Given the description of an element on the screen output the (x, y) to click on. 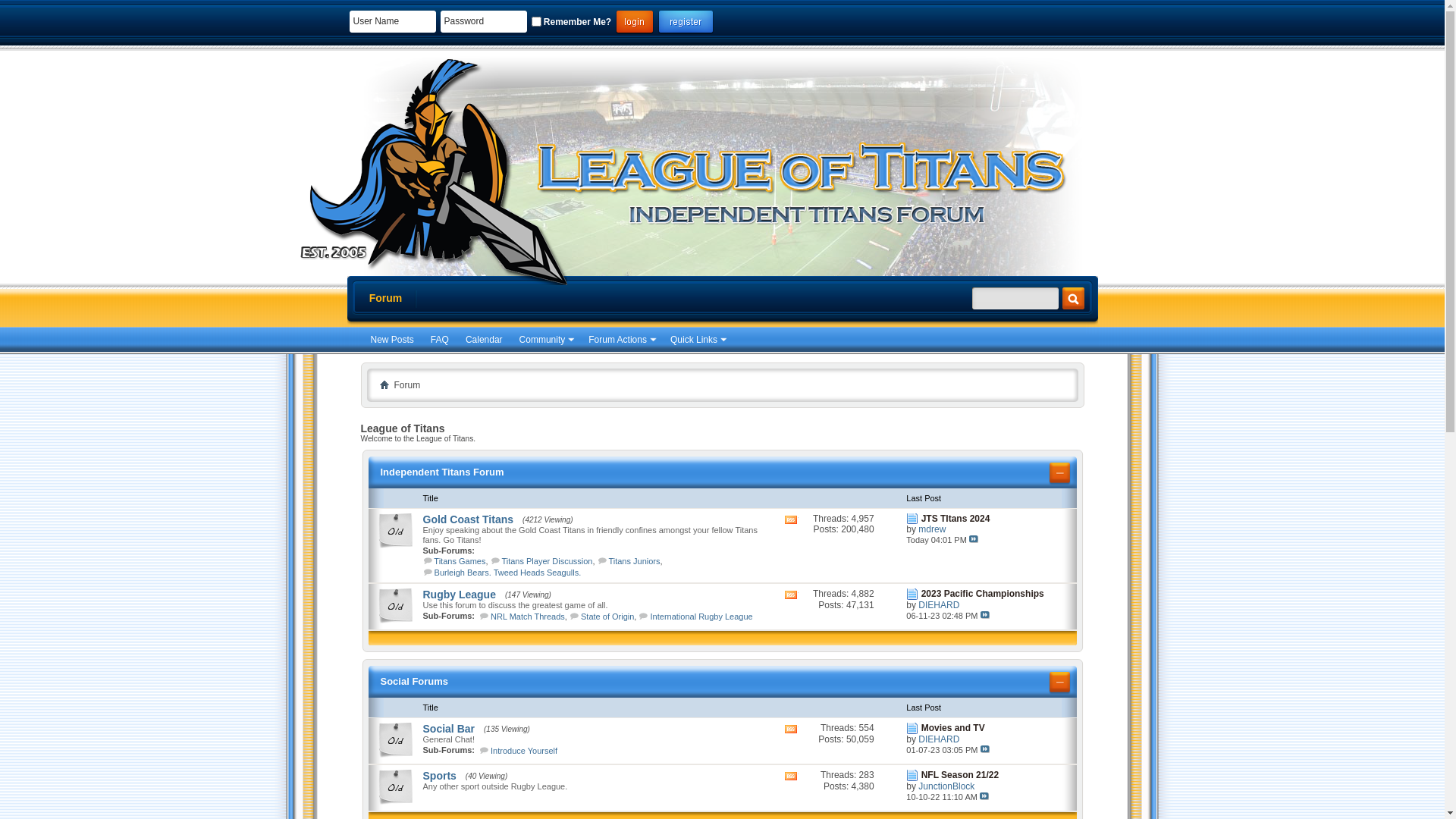
Introduce Yourself Element type: text (523, 750)
Go to last post Element type: hover (973, 538)
View this forum's RSS feed Element type: text (791, 543)
Go to last post Element type: hover (983, 796)
View this forum's RSS feed Element type: text (791, 752)
Go to last post Element type: hover (984, 749)
Movies and TV Element type: text (953, 727)
Rugby League Element type: text (459, 594)
NRL Match Threads Element type: text (527, 616)
Home Element type: hover (383, 384)
Register Element type: hover (685, 22)
Forum Actions Element type: text (620, 339)
DIEHARD Element type: text (938, 739)
League of Titans - Powered by vBulletin Element type: hover (426, 167)
Sports Element type: text (439, 775)
Titans Player Discussion Element type: text (546, 560)
Titans Games Element type: text (459, 560)
New Posts Element type: text (391, 339)
Forum Element type: text (385, 298)
2023 Pacific Championships Element type: text (982, 593)
Go to last post Element type: hover (984, 614)
FAQ Element type: text (439, 339)
State of Origin Element type: text (606, 616)
DIEHARD Element type: text (938, 604)
Independent Titans Forum Element type: text (442, 471)
mdrew Element type: text (931, 529)
Social Forums Element type: text (414, 681)
JTS TItans 2024 Element type: text (955, 518)
Social Bar Element type: text (448, 728)
View this forum's RSS feed Element type: text (791, 618)
International Rugby League Element type: text (701, 616)
Calendar Element type: text (484, 339)
Quick Links Element type: text (696, 339)
Community Element type: text (545, 339)
JunctionBlock Element type: text (946, 786)
Gold Coast Titans Element type: text (468, 519)
Burleigh Bears. Tweed Heads Seagulls. Element type: text (507, 572)
Titans Juniors Element type: text (633, 560)
NFL Season 21/22 Element type: text (960, 774)
